Given the description of an element on the screen output the (x, y) to click on. 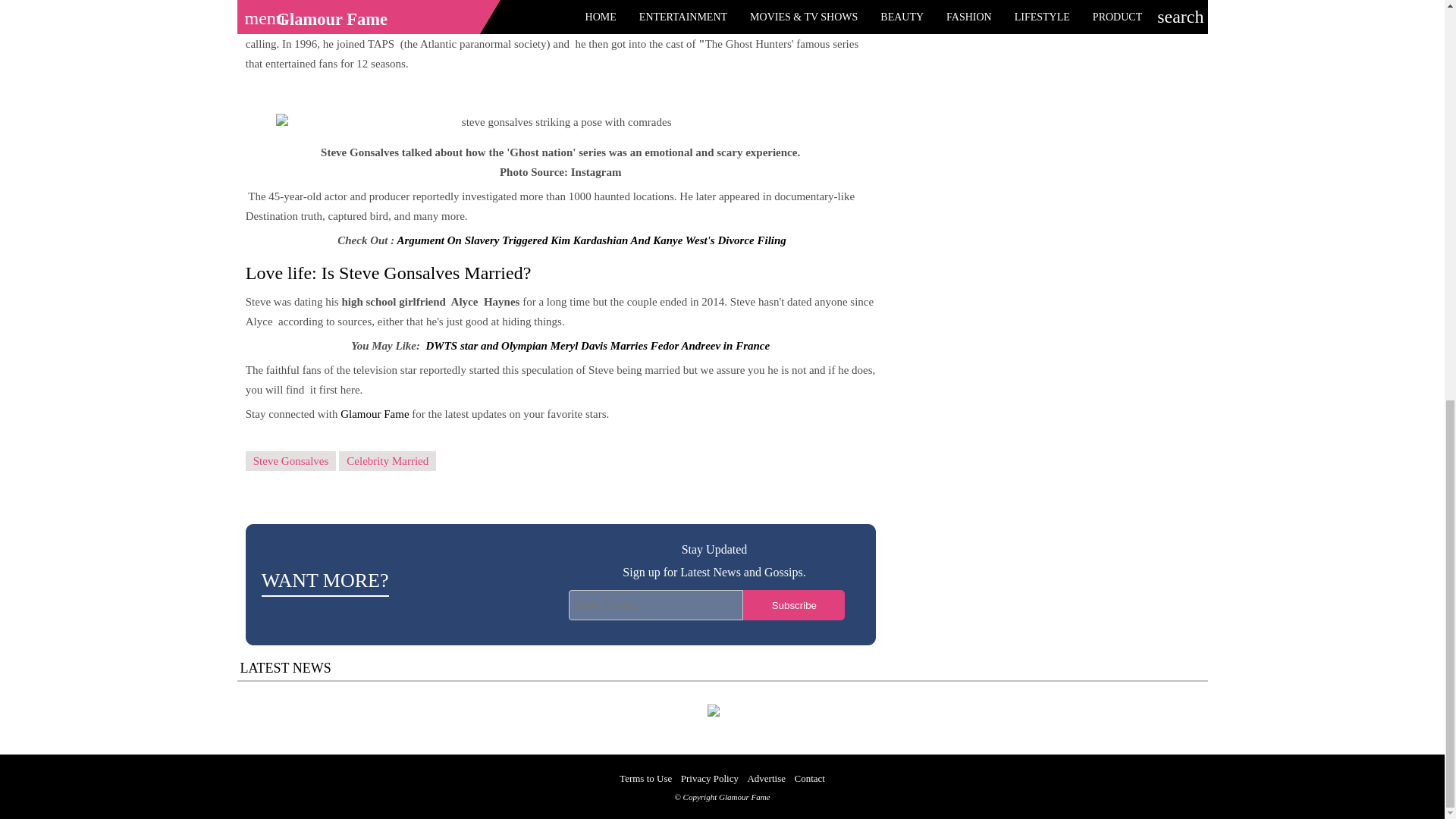
Subscribe (793, 604)
Advertise (766, 778)
Steve Gonsalves (291, 461)
Terms to Use (645, 778)
Glamour Fame (376, 413)
Privacy Policy (709, 778)
Celebrity Married (387, 461)
